Given the description of an element on the screen output the (x, y) to click on. 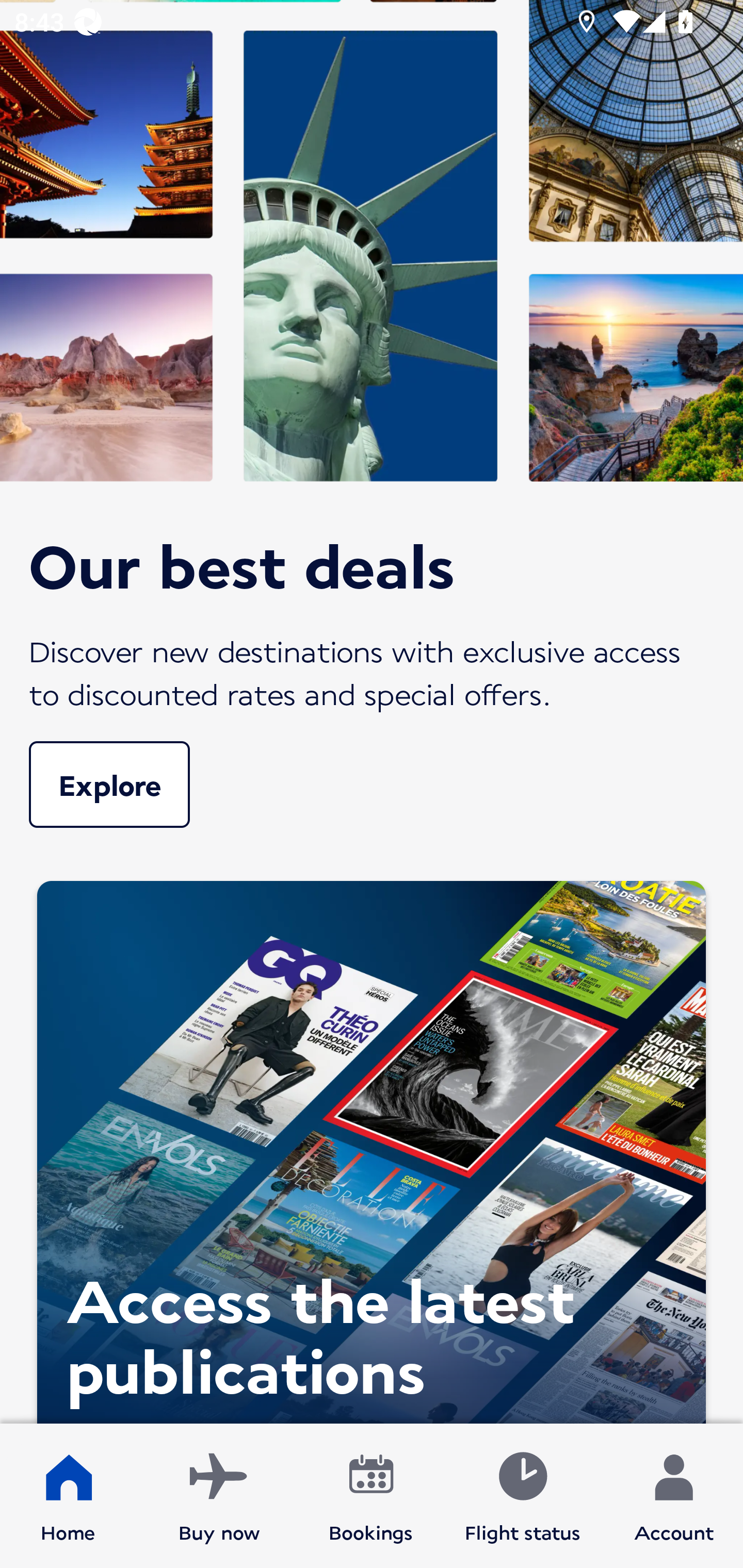
Access the latest publications (371, 1147)
Buy now (219, 1495)
Bookings (370, 1495)
Flight status (522, 1495)
Account (674, 1495)
